Given the description of an element on the screen output the (x, y) to click on. 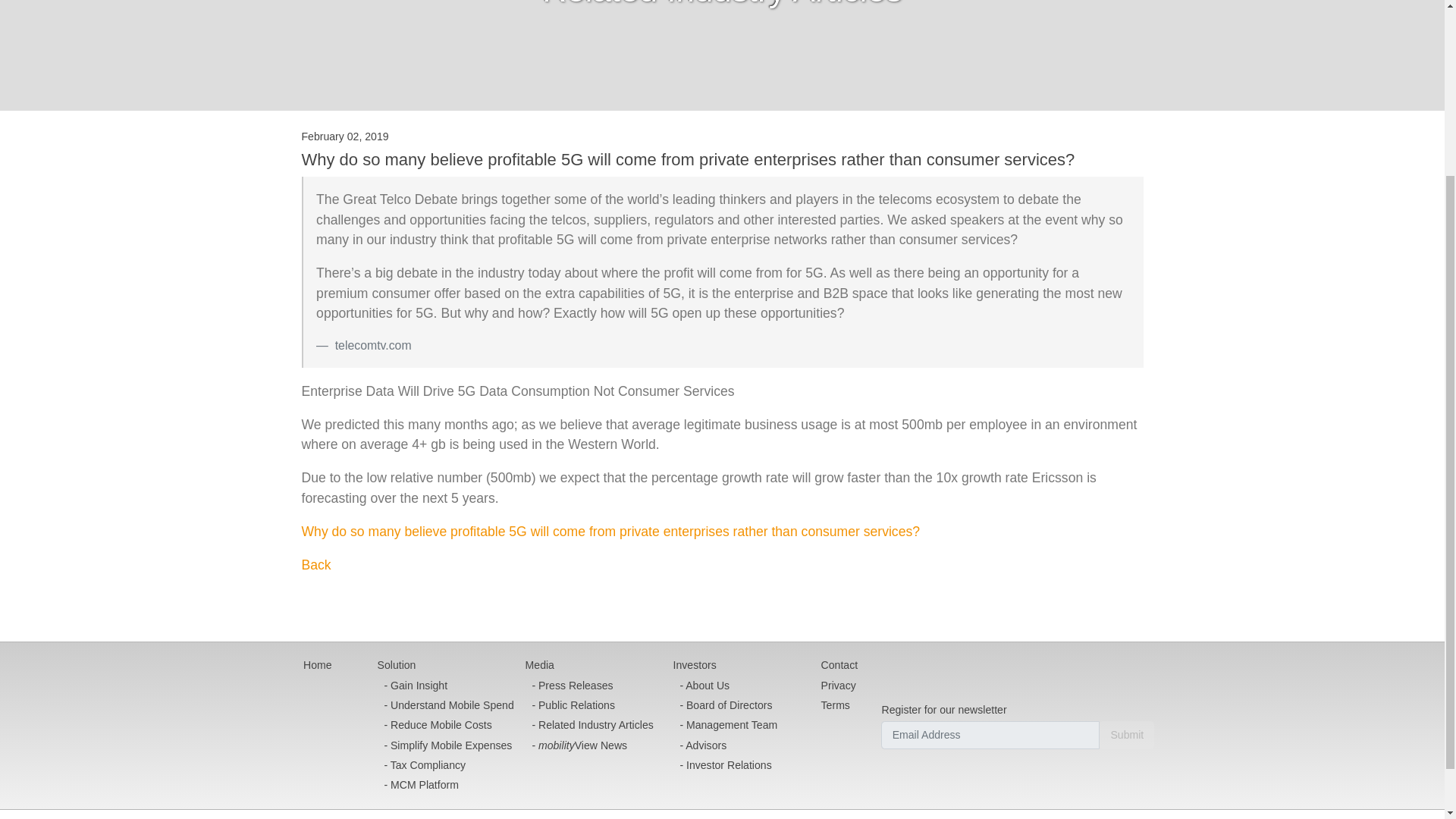
MCM Platform (445, 785)
Related Industry Articles (589, 725)
Tax Compliancy (445, 764)
Reduce Mobile Costs (445, 725)
About Us (724, 685)
Simplify Mobile Expenses (445, 745)
Press Releases (589, 685)
Public Relations (589, 704)
Back (316, 564)
Home (317, 665)
mobilityView News (589, 745)
Gain Insight (445, 685)
Board of Directors (724, 704)
Understand Mobile Spend (445, 704)
